Given the description of an element on the screen output the (x, y) to click on. 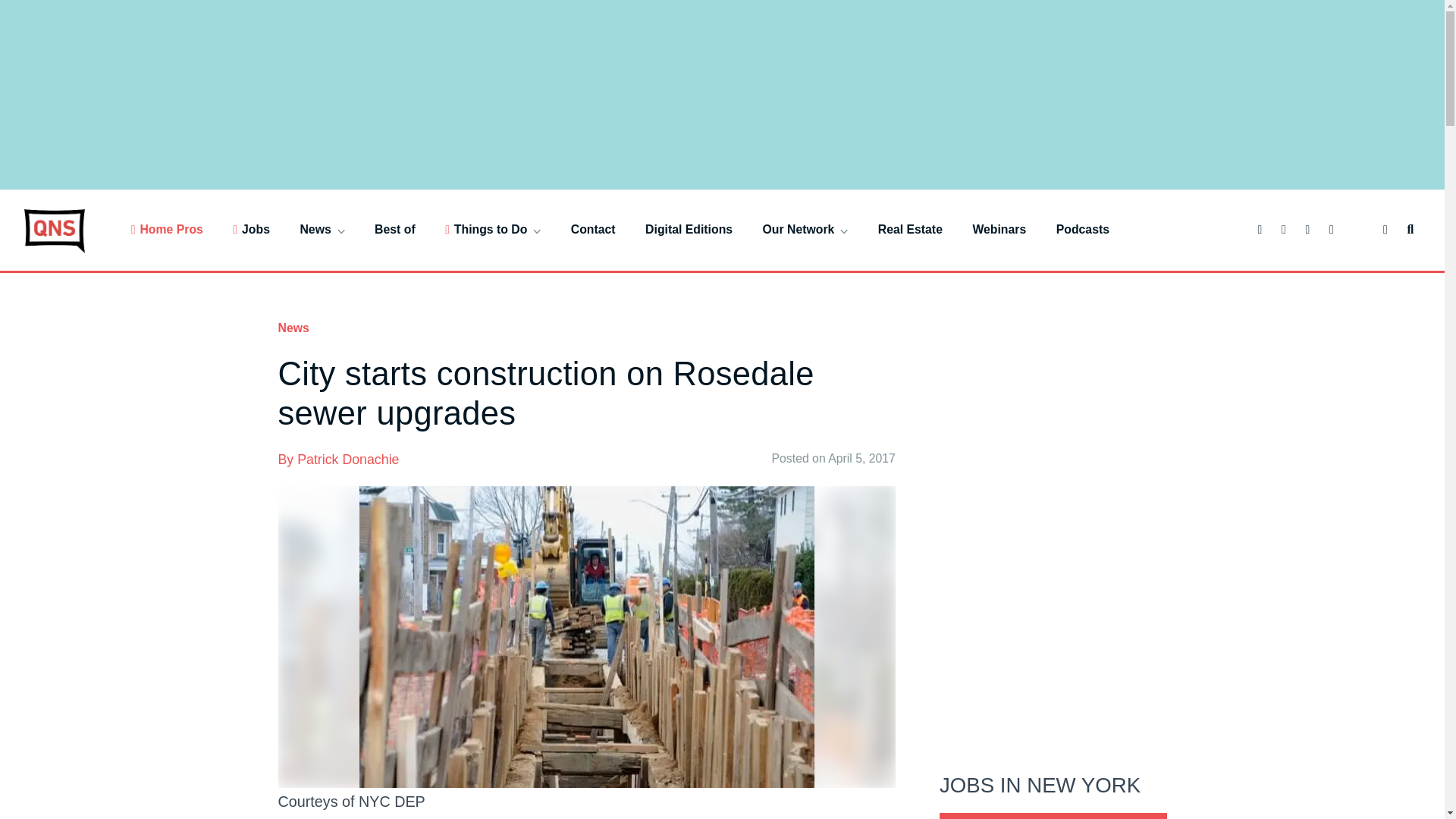
Podcasts (1083, 228)
Real Estate (909, 228)
Contact (592, 228)
Jobs (250, 228)
Home Pros (167, 228)
News (321, 228)
Webinars (999, 228)
Our Network (805, 228)
Best of (394, 228)
Digital Editions (688, 228)
